Given the description of an element on the screen output the (x, y) to click on. 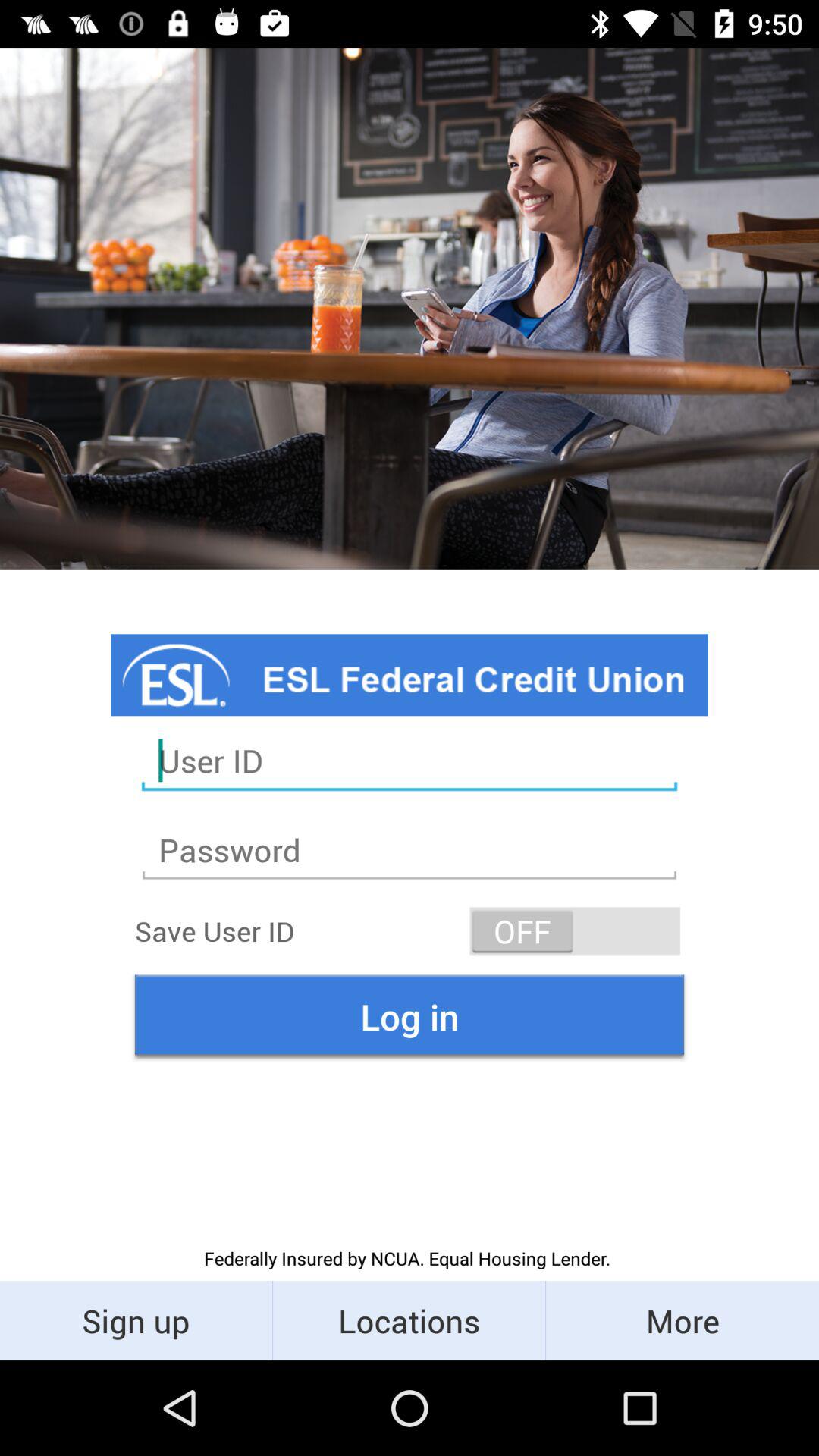
launch icon next to the sign up icon (409, 1320)
